Given the description of an element on the screen output the (x, y) to click on. 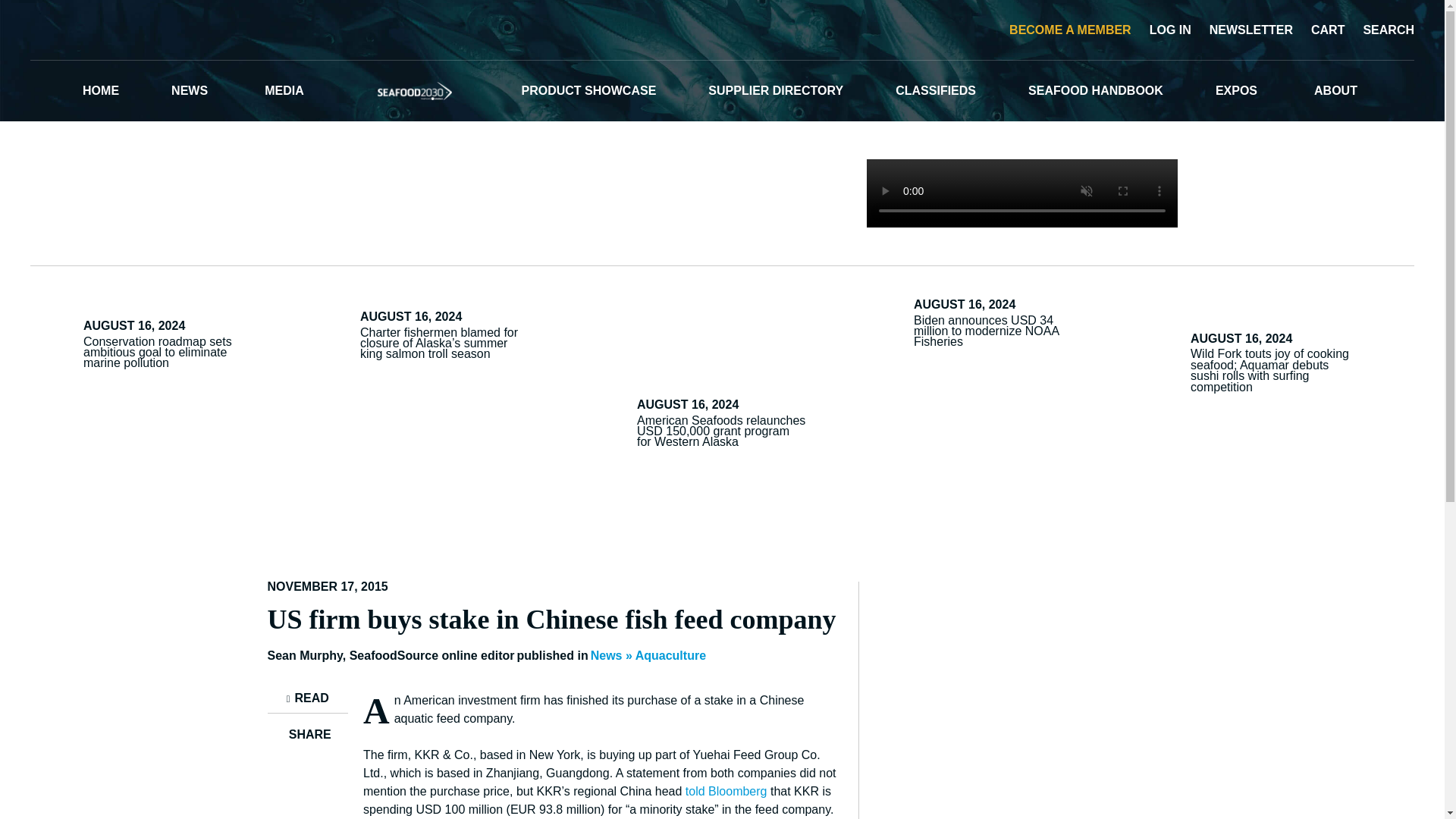
Search SearfoodSource (1385, 29)
CLASSIFIEDS (935, 90)
Subscribe to our newsletter (1248, 29)
BECOME A MEMBER (1067, 29)
NEWSLETTER (1248, 29)
SUPPLIER DIRECTORY (775, 90)
SEAFOOD HANDBOOK (1095, 90)
CART (1324, 29)
LOG IN (1167, 29)
Log in (1167, 29)
